Given the description of an element on the screen output the (x, y) to click on. 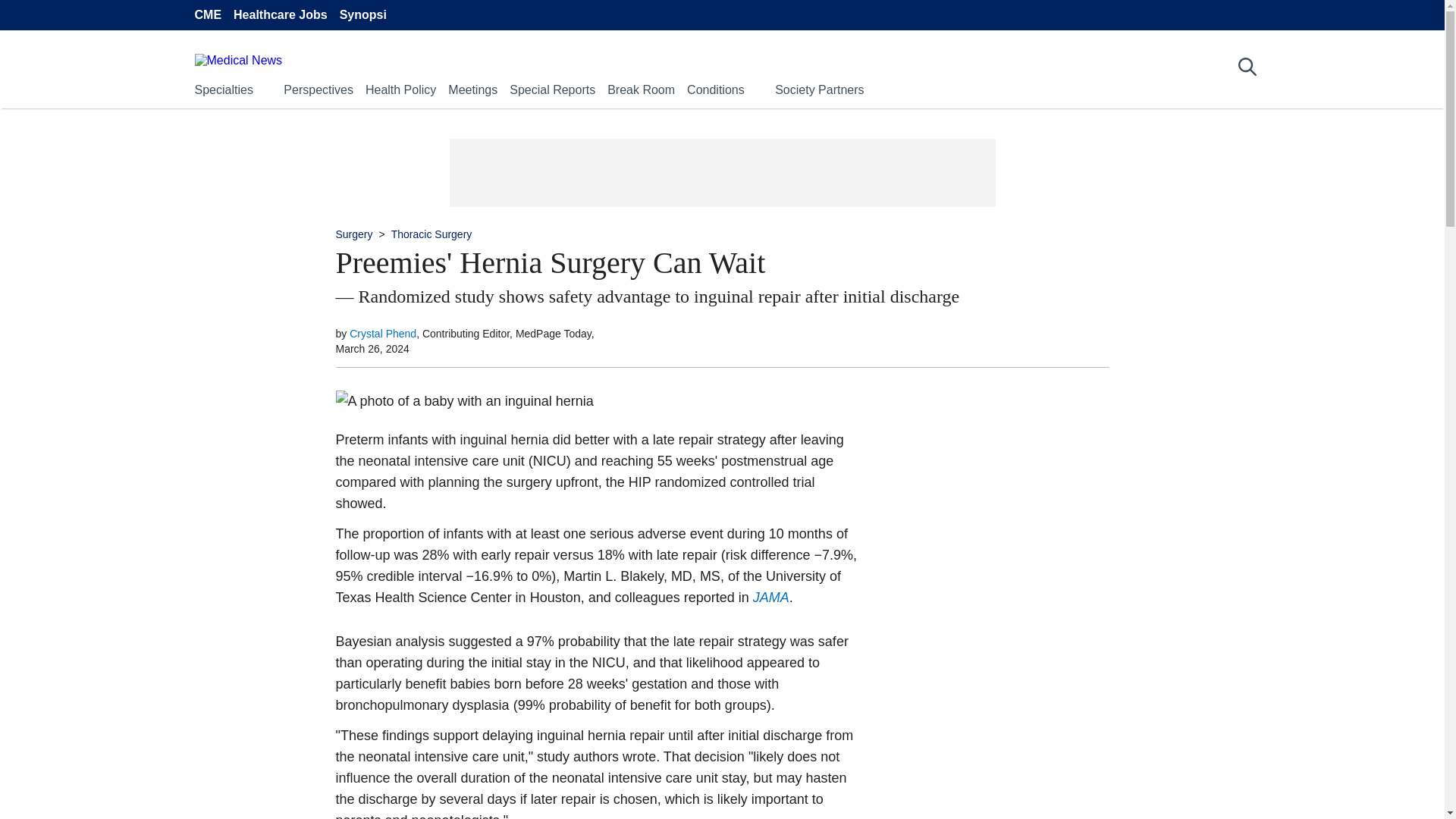
CME (207, 15)
Healthcare Jobs (279, 15)
Specialties (222, 89)
Synopsi (363, 15)
